Given the description of an element on the screen output the (x, y) to click on. 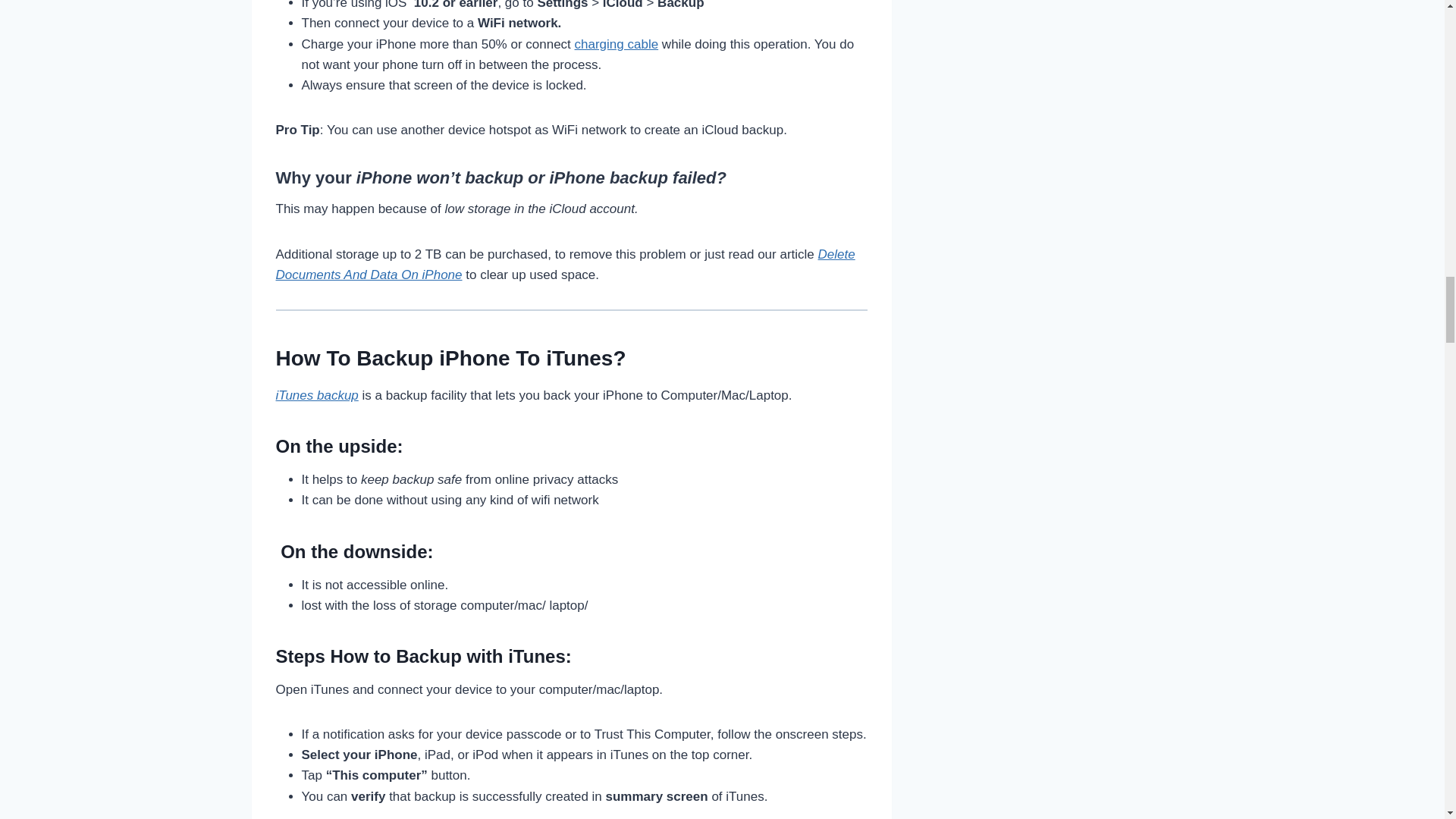
charging cable (617, 43)
iTunes backup (317, 395)
Delete Documents And Data On iPhone (566, 264)
